Given the description of an element on the screen output the (x, y) to click on. 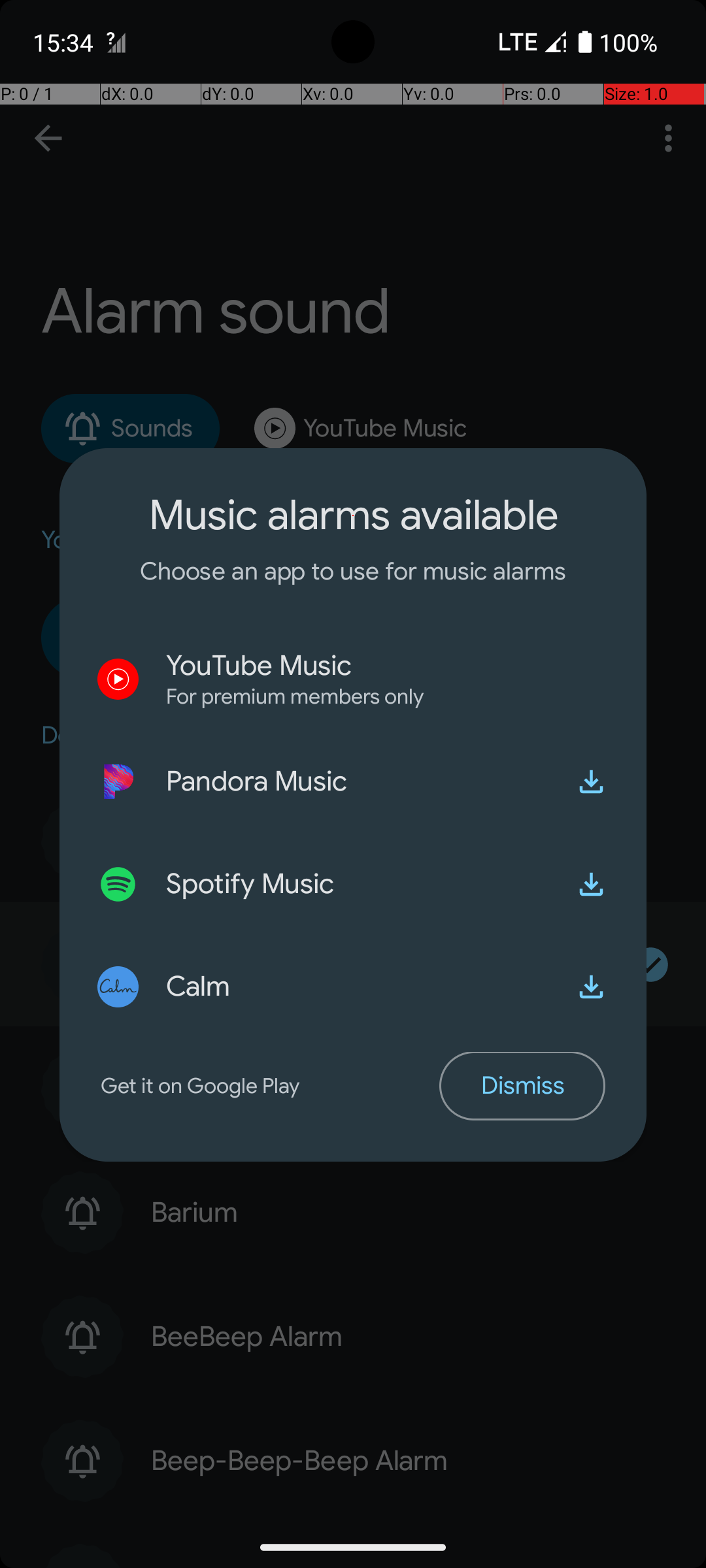
Music alarms available Element type: android.widget.TextView (352, 515)
Choose an app to use for music alarms Element type: android.widget.TextView (352, 570)
Get it on Google Play Element type: android.widget.TextView (269, 1085)
YouTube Music Element type: android.widget.TextView (258, 665)
For premium members only Element type: android.widget.TextView (294, 696)
Pandora Music Element type: android.widget.TextView (256, 781)
Spotify Music Element type: android.widget.TextView (249, 883)
Calm Element type: android.widget.TextView (198, 986)
